Given the description of an element on the screen output the (x, y) to click on. 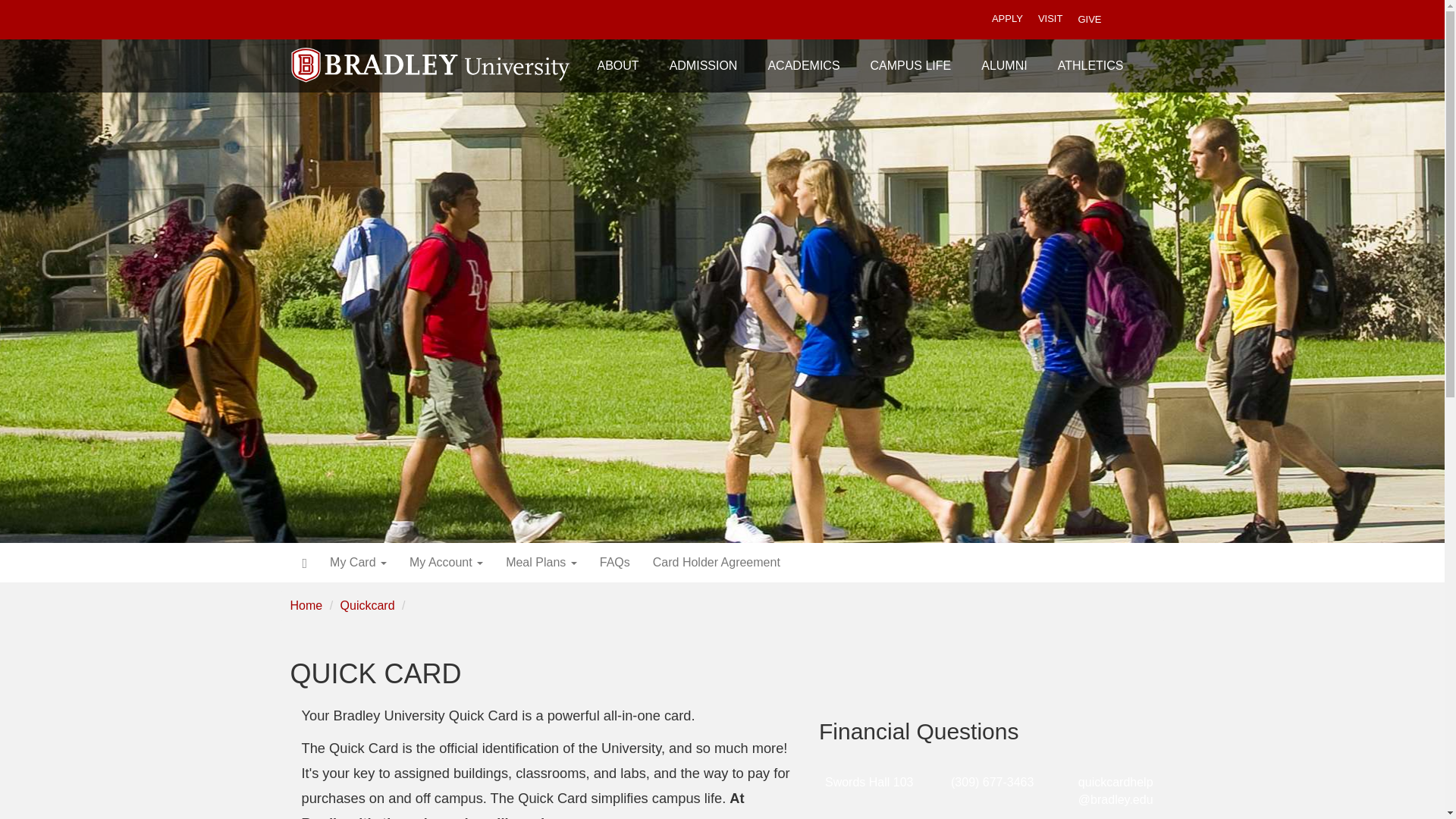
APPLY (1007, 19)
GIVE (1089, 19)
VISIT (1050, 19)
Bradley University (430, 55)
Bradley University (430, 55)
